Given the description of an element on the screen output the (x, y) to click on. 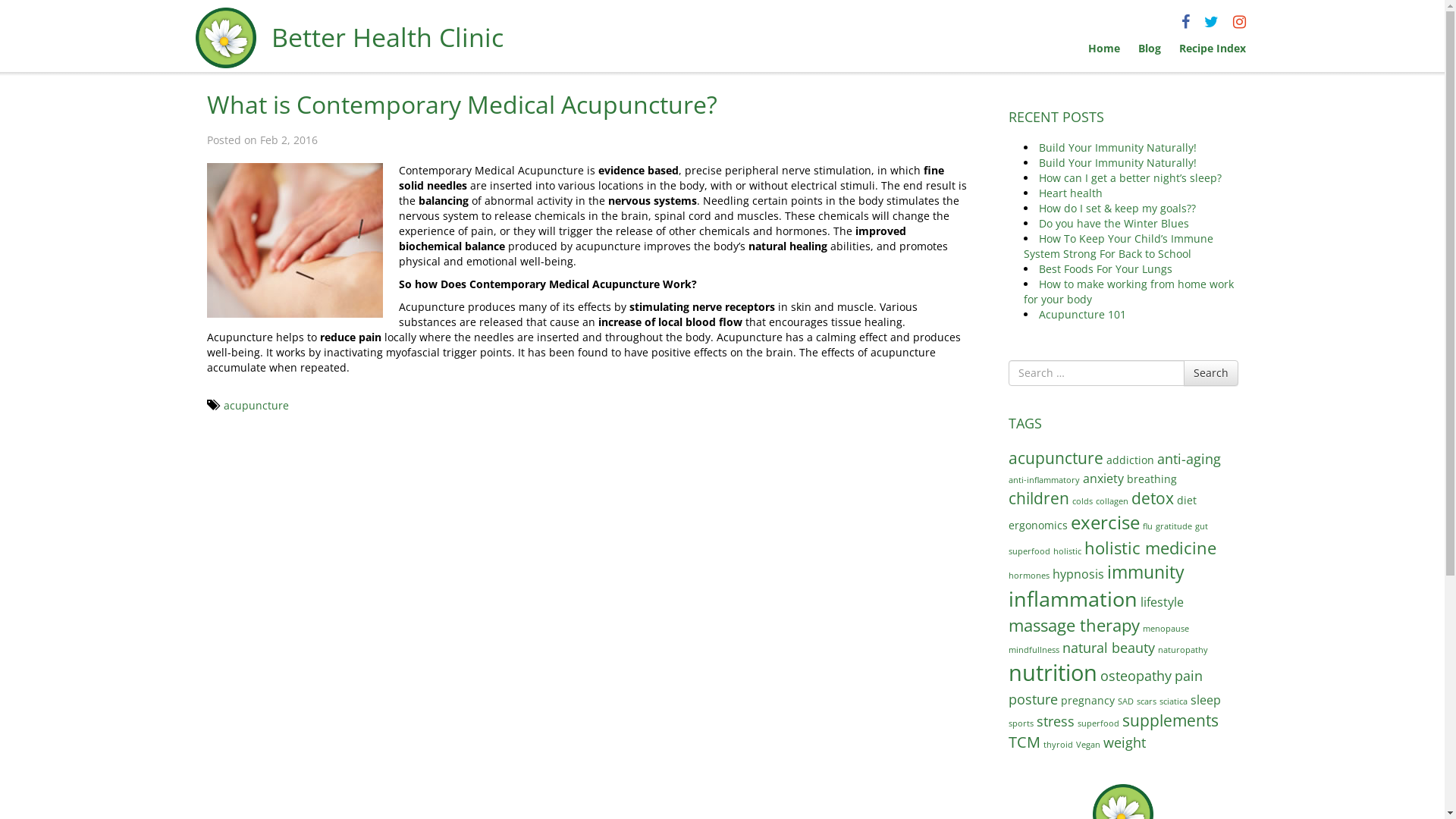
Build Your Immunity Naturally! Element type: text (1117, 162)
anxiety Element type: text (1102, 477)
holistic medicine Element type: text (1150, 547)
mindfullness Element type: text (1033, 649)
What is Contemporary Medical Acupuncture? Element type: text (461, 103)
menopause Element type: text (1165, 628)
osteopathy Element type: text (1135, 674)
supplements Element type: text (1170, 720)
Best Foods For Your Lungs Element type: text (1105, 268)
detox Element type: text (1152, 497)
Do you have the Winter Blues Element type: text (1113, 223)
natural beauty Element type: text (1108, 646)
pregnancy Element type: text (1087, 700)
diet Element type: text (1186, 499)
children Element type: text (1038, 497)
Go to Instagram Element type: text (1239, 21)
nutrition Element type: text (1052, 672)
Search for: Element type: hover (1096, 372)
superfood Element type: text (1098, 723)
Search Element type: text (1210, 372)
acupuncture Element type: text (255, 405)
ergonomics Element type: text (1037, 524)
sleep Element type: text (1205, 699)
Acupuncture 101 Element type: text (1082, 314)
scars Element type: text (1146, 701)
anti-aging Element type: text (1188, 457)
posture Element type: text (1032, 698)
Vegan Element type: text (1088, 744)
addiction Element type: text (1130, 459)
anti-inflammatory Element type: text (1043, 479)
weight Element type: text (1124, 741)
colds Element type: text (1082, 500)
flu Element type: text (1147, 525)
stress Element type: text (1055, 720)
Go to Facebook Element type: text (1185, 21)
Tagged Element type: hover (211, 404)
Heart health Element type: text (1070, 192)
holistic Element type: text (1067, 551)
How to make working from home work for your body Element type: text (1128, 291)
SAD Element type: text (1125, 701)
inflammation Element type: text (1072, 598)
thyroid Element type: text (1058, 744)
Feb 2, 2016 Element type: text (287, 139)
hormones Element type: text (1028, 575)
gratitude Element type: text (1173, 525)
massage therapy Element type: text (1073, 624)
acupuncture Element type: text (1055, 457)
immunity Element type: text (1145, 571)
hypnosis Element type: text (1078, 573)
gut superfood Element type: text (1108, 537)
collagen Element type: text (1111, 500)
Build Your Immunity Naturally! Element type: text (1117, 147)
Home Element type: text (1103, 48)
Blog Element type: text (1148, 48)
pain Element type: text (1188, 674)
Recipe Index Element type: text (1211, 48)
sports Element type: text (1020, 723)
TCM Element type: text (1024, 741)
exercise Element type: text (1104, 521)
How do I set & keep my goals?? Element type: text (1116, 207)
naturopathy Element type: text (1182, 649)
breathing Element type: text (1151, 478)
lifestyle Element type: text (1161, 601)
sciatica Element type: text (1173, 701)
Go to Twitter Element type: text (1211, 21)
